Given the description of an element on the screen output the (x, y) to click on. 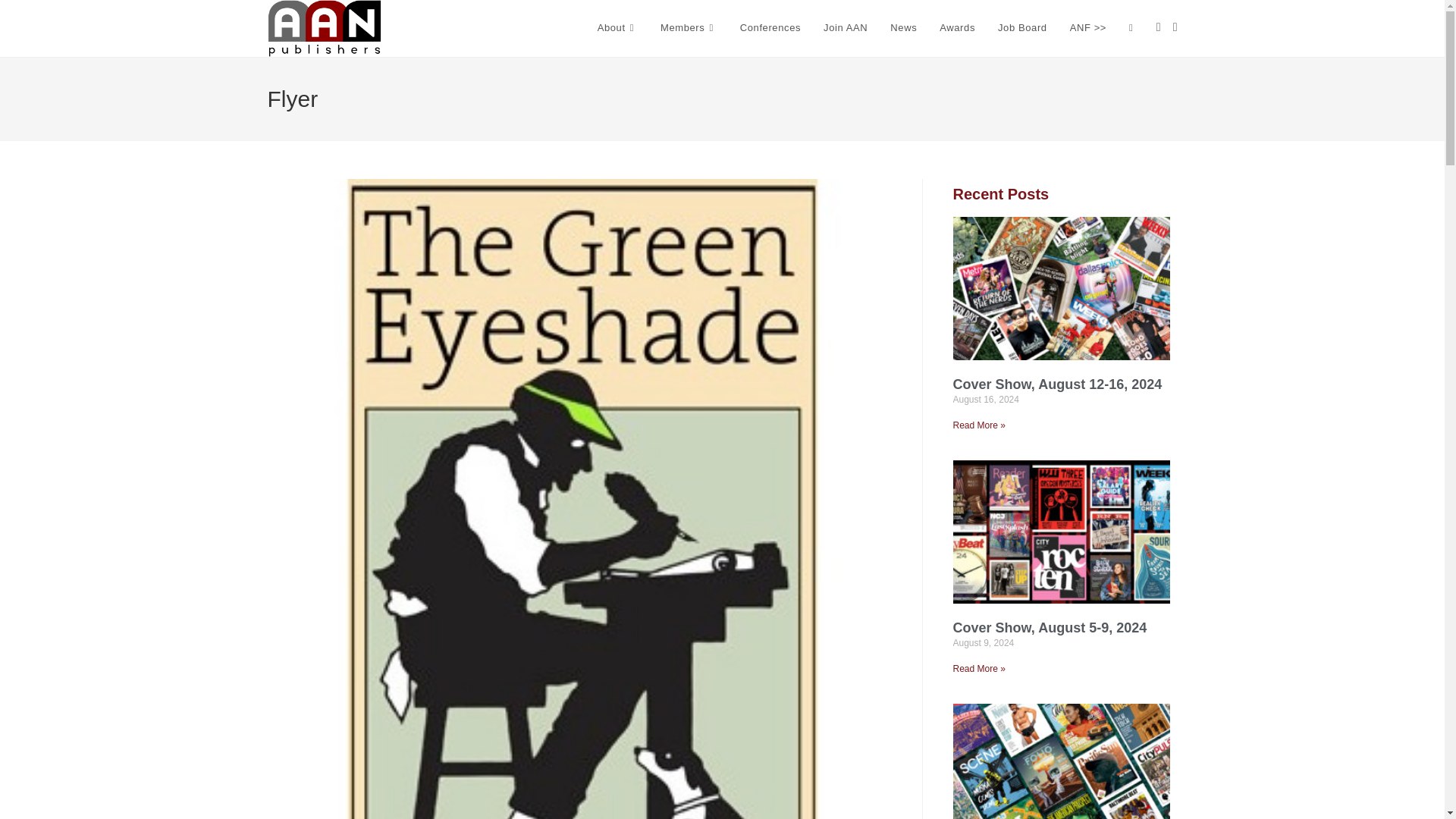
About (617, 28)
Members (689, 28)
Join AAN (845, 28)
Conferences (770, 28)
Job Board (1022, 28)
Awards (957, 28)
